Given the description of an element on the screen output the (x, y) to click on. 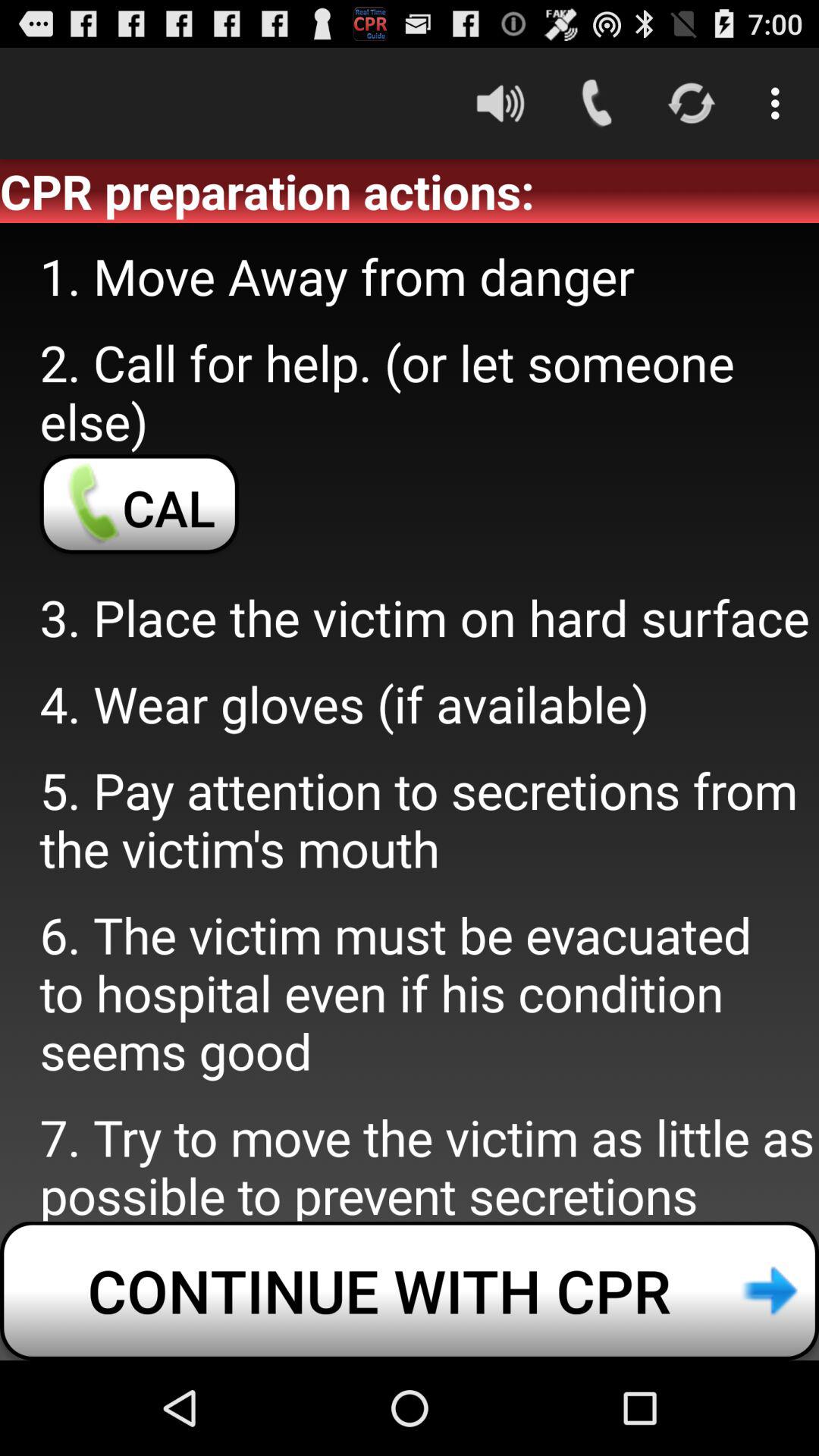
open item above cpr preparation actions: icon (779, 103)
